Given the description of an element on the screen output the (x, y) to click on. 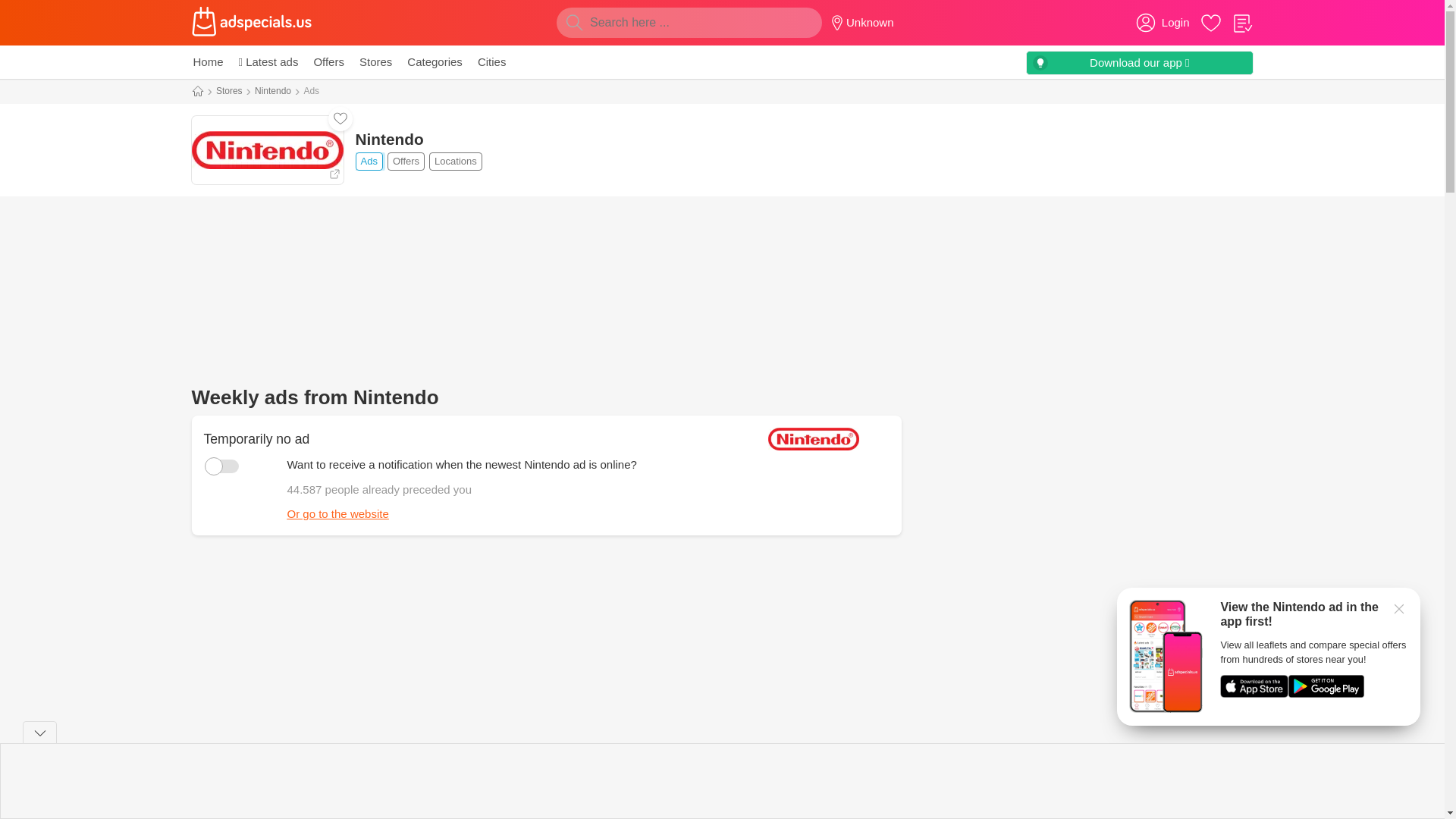
Or go to the website (273, 798)
Offers (337, 513)
Go to website (328, 61)
Ads (266, 150)
Cities (419, 161)
Stores (991, 798)
